Given the description of an element on the screen output the (x, y) to click on. 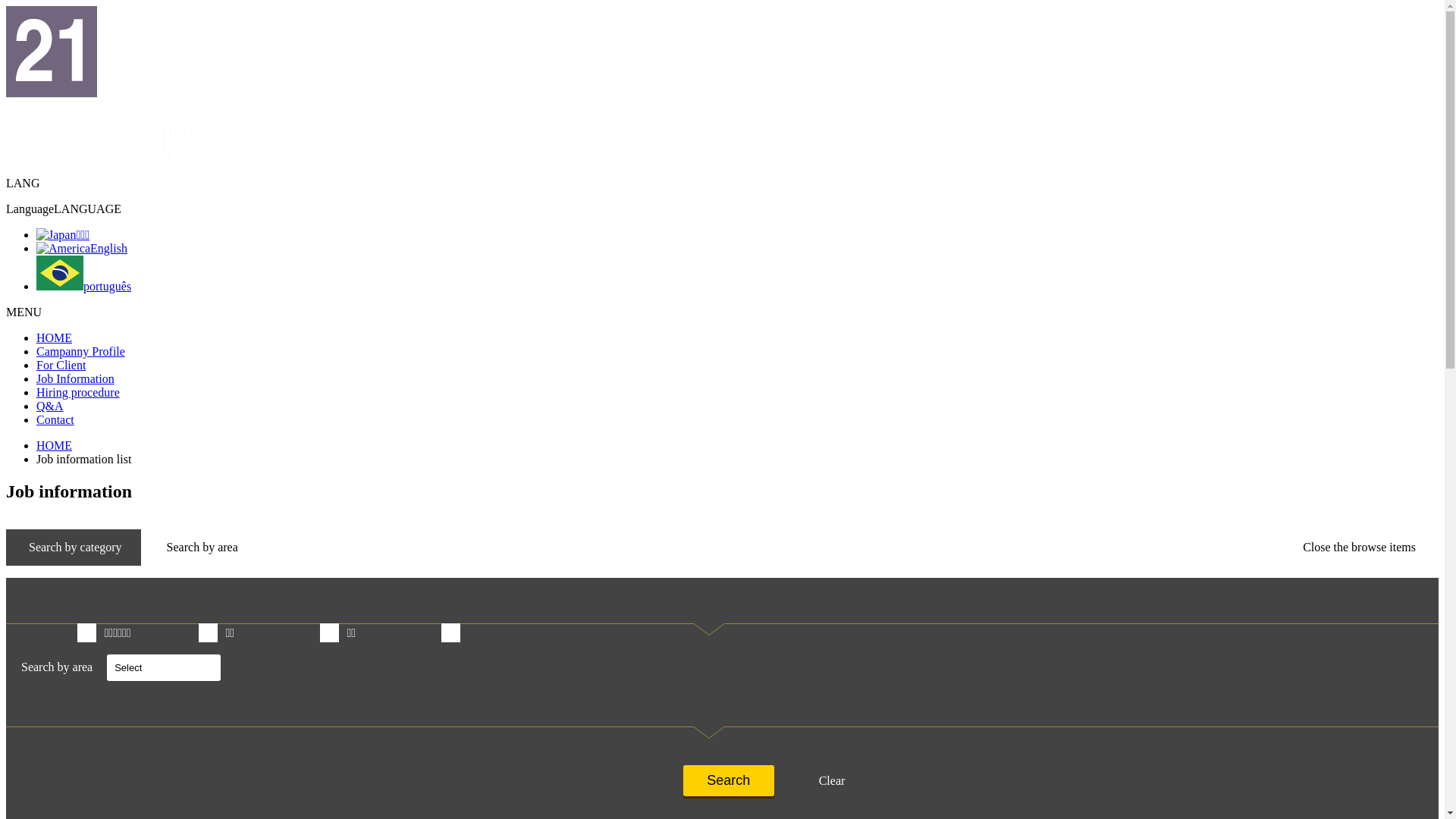
Search by area Element type: text (200, 546)
Hiring procedure Element type: text (77, 391)
Clear Element type: text (830, 780)
English Element type: text (81, 247)
HOME Element type: text (54, 337)
Search Element type: text (728, 780)
Search by category Element type: text (73, 546)
HOME Element type: text (54, 445)
Job Information Element type: text (75, 378)
Campanny Profile Element type: text (80, 351)
Contact Element type: text (55, 419)
Q&A Element type: text (49, 405)
For Client Element type: text (60, 364)
